Given the description of an element on the screen output the (x, y) to click on. 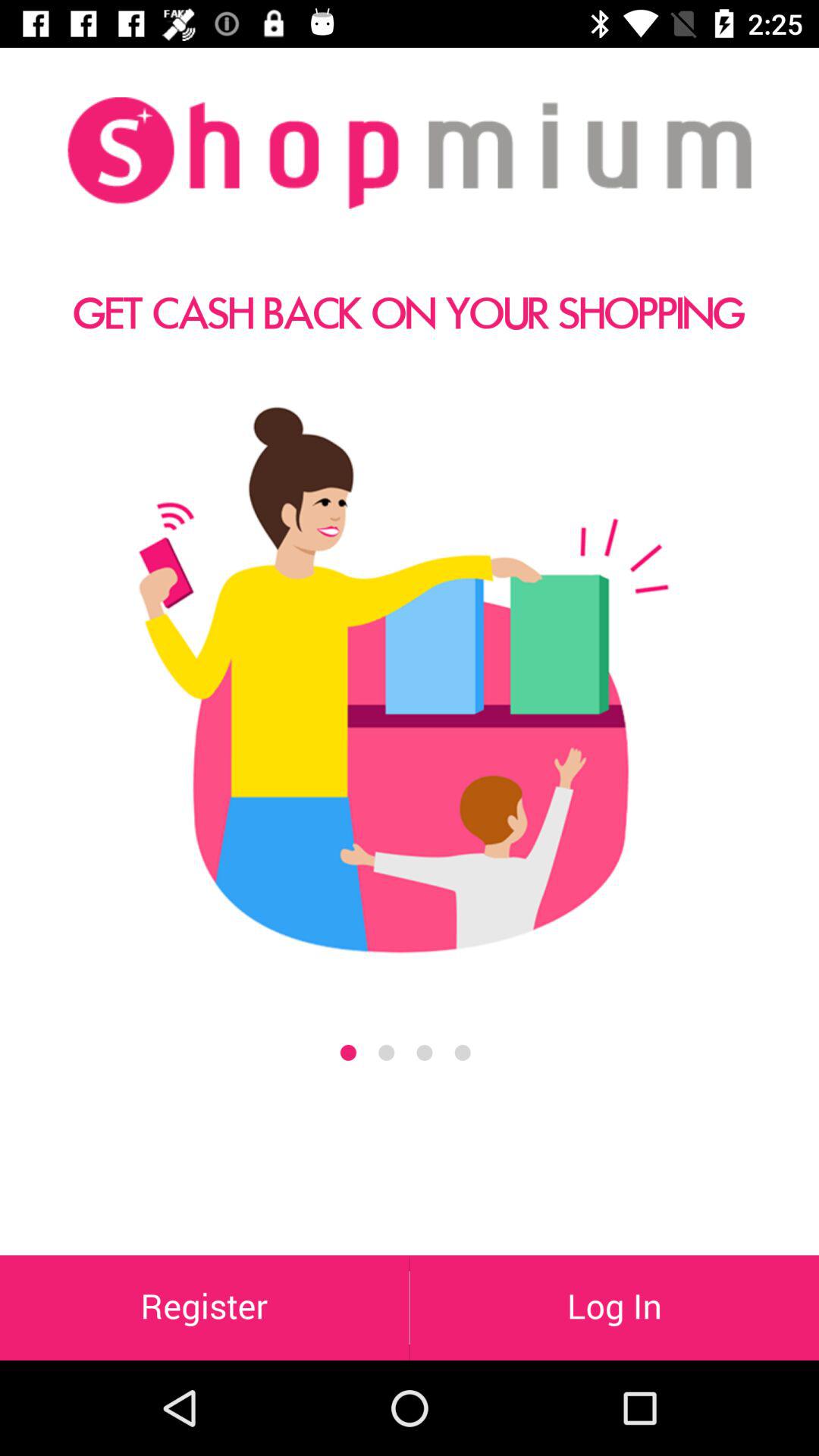
press the log in at the bottom right corner (614, 1307)
